Given the description of an element on the screen output the (x, y) to click on. 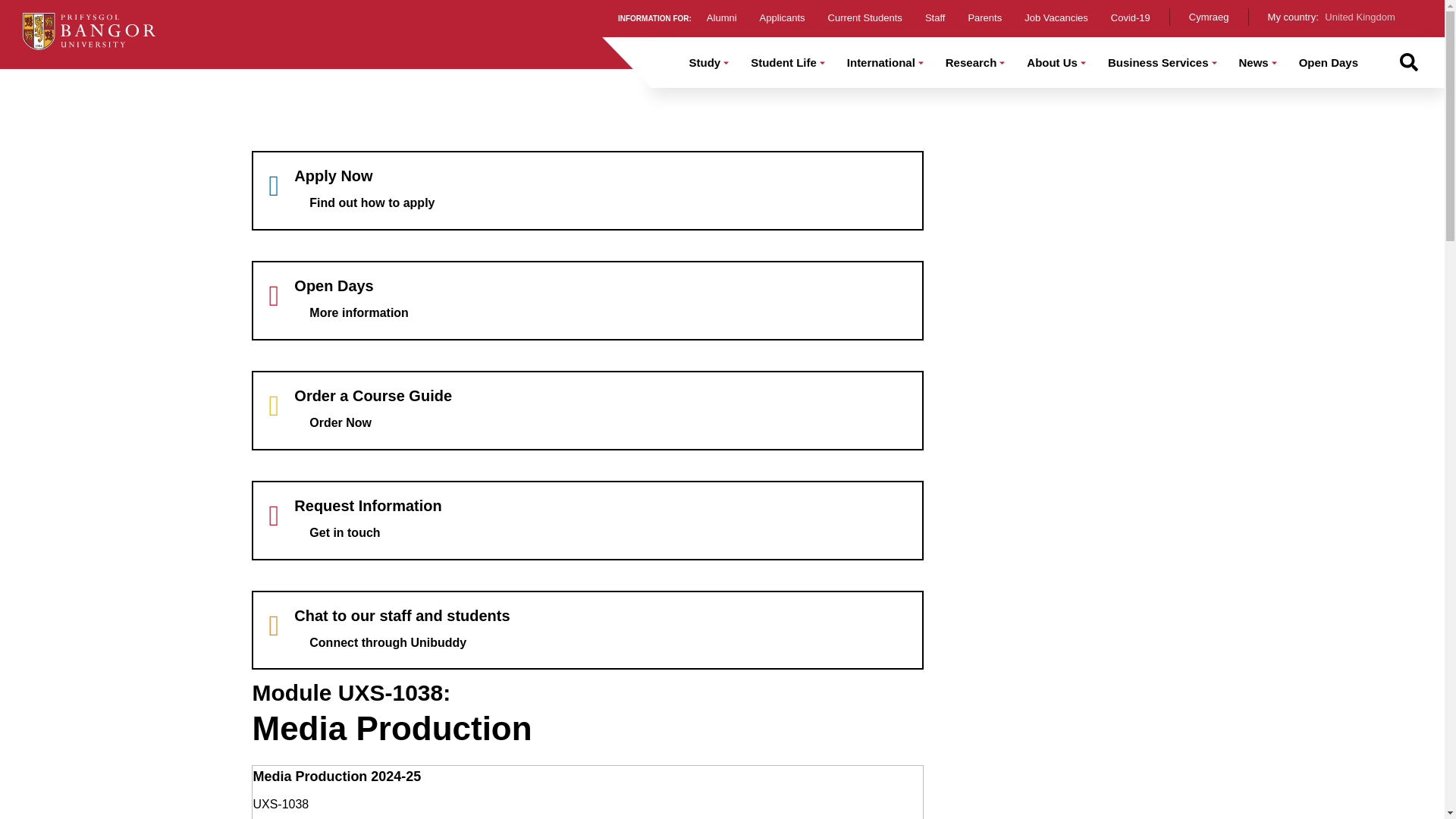
Cymraeg (1208, 17)
Parents (984, 17)
Covid-19 (1130, 17)
Staff (934, 17)
Current Students (865, 17)
Alumni (721, 17)
Job Vacancies (1056, 17)
Study (705, 61)
Student Life (783, 61)
Applicants (782, 17)
